Given the description of an element on the screen output the (x, y) to click on. 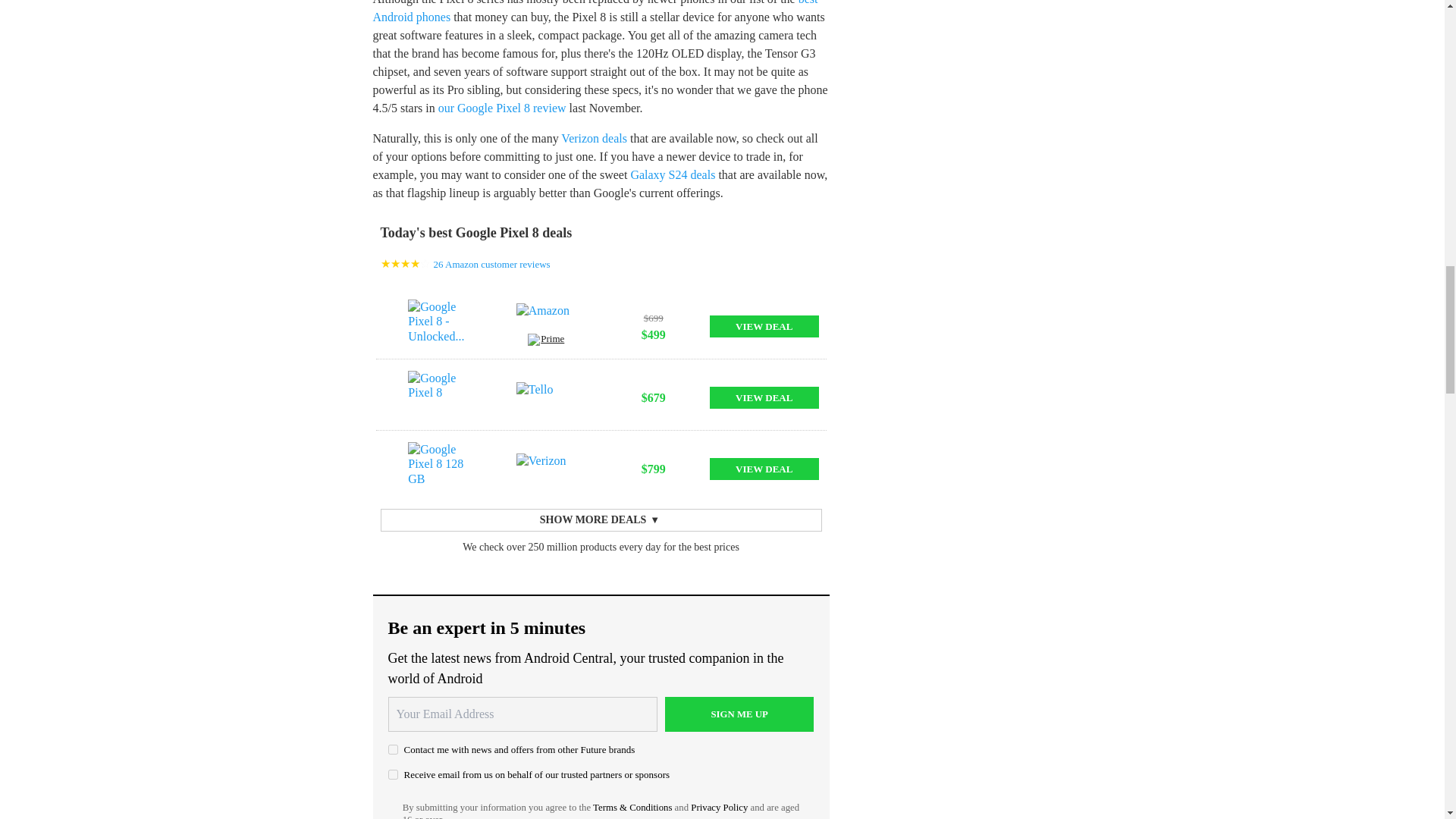
Google Pixel 8 128 GB (437, 468)
Amazon (546, 318)
Verizon (546, 468)
Sign me up (739, 714)
Google Pixel 8 (437, 397)
Tello (546, 397)
Prime (546, 341)
Google Pixel 8 - Unlocked... (437, 325)
on (392, 749)
on (392, 774)
